Given the description of an element on the screen output the (x, y) to click on. 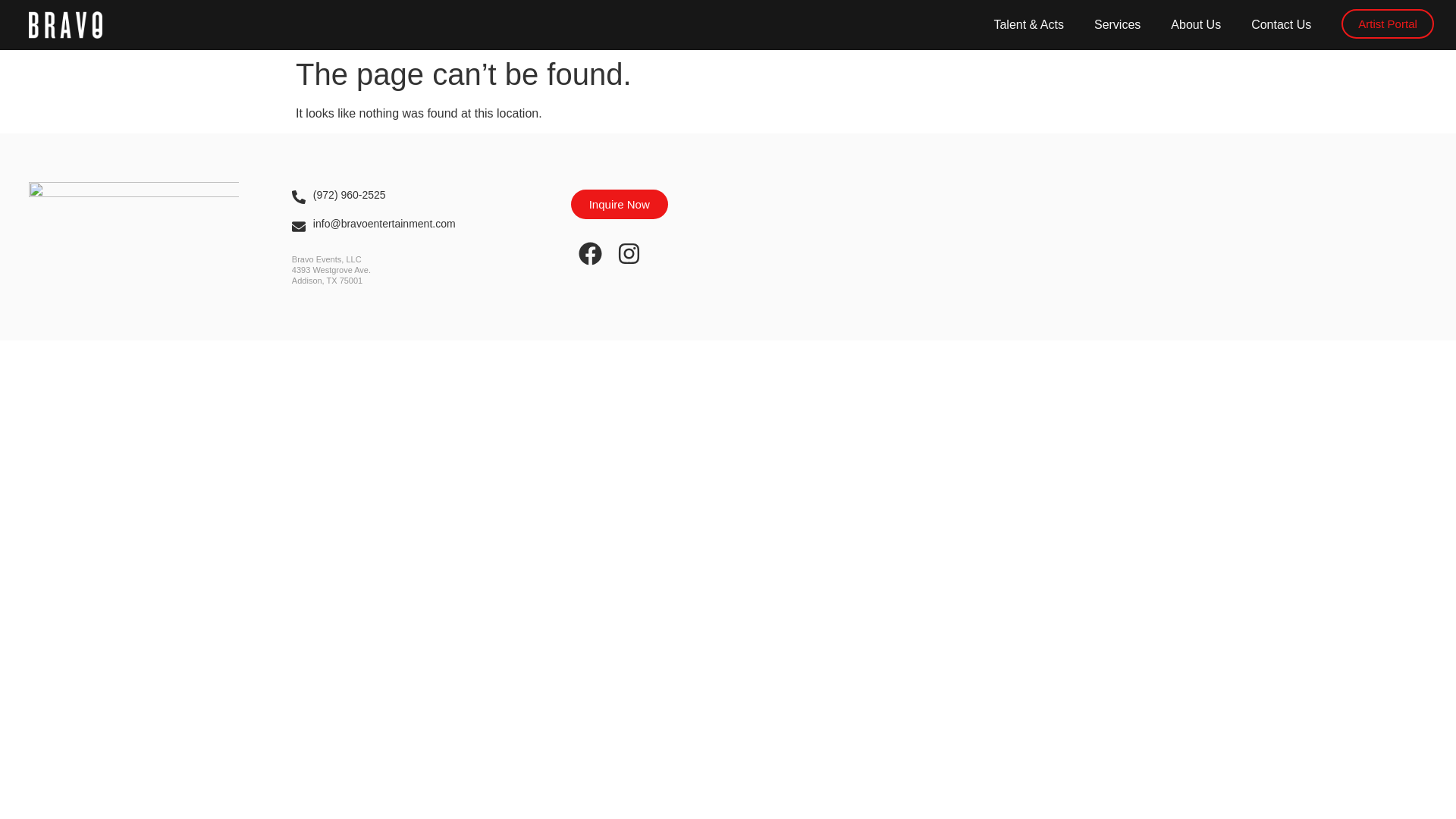
Contact Us (1281, 24)
About Us (1196, 24)
Services (1117, 24)
